Given the description of an element on the screen output the (x, y) to click on. 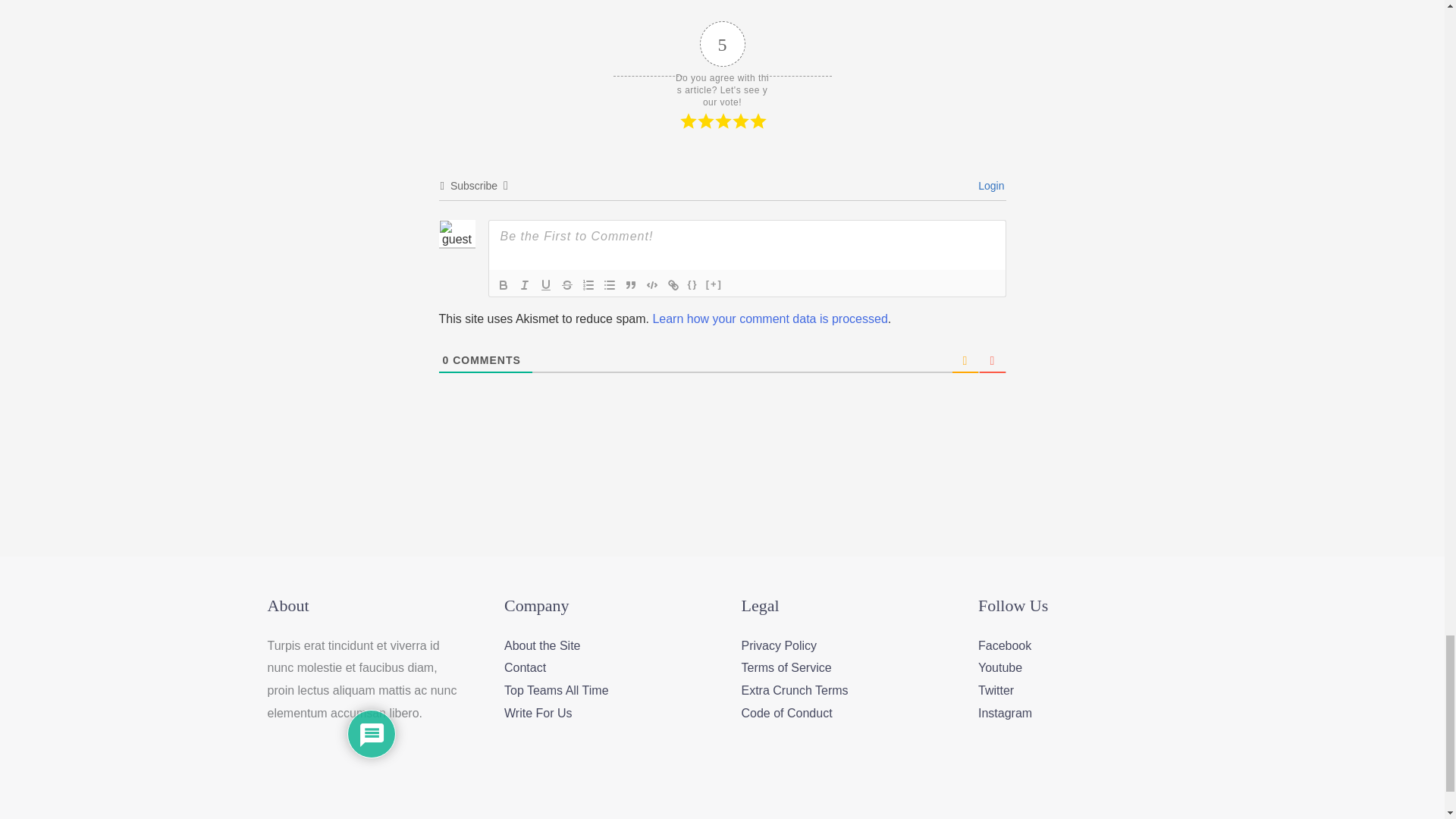
Ordered List (588, 285)
Underline (545, 285)
Italic (524, 285)
Strike (567, 285)
Bold (503, 285)
Spoiler (713, 285)
Unordered List (609, 285)
Link (673, 285)
Code Block (652, 285)
Blockquote (631, 285)
